Given the description of an element on the screen output the (x, y) to click on. 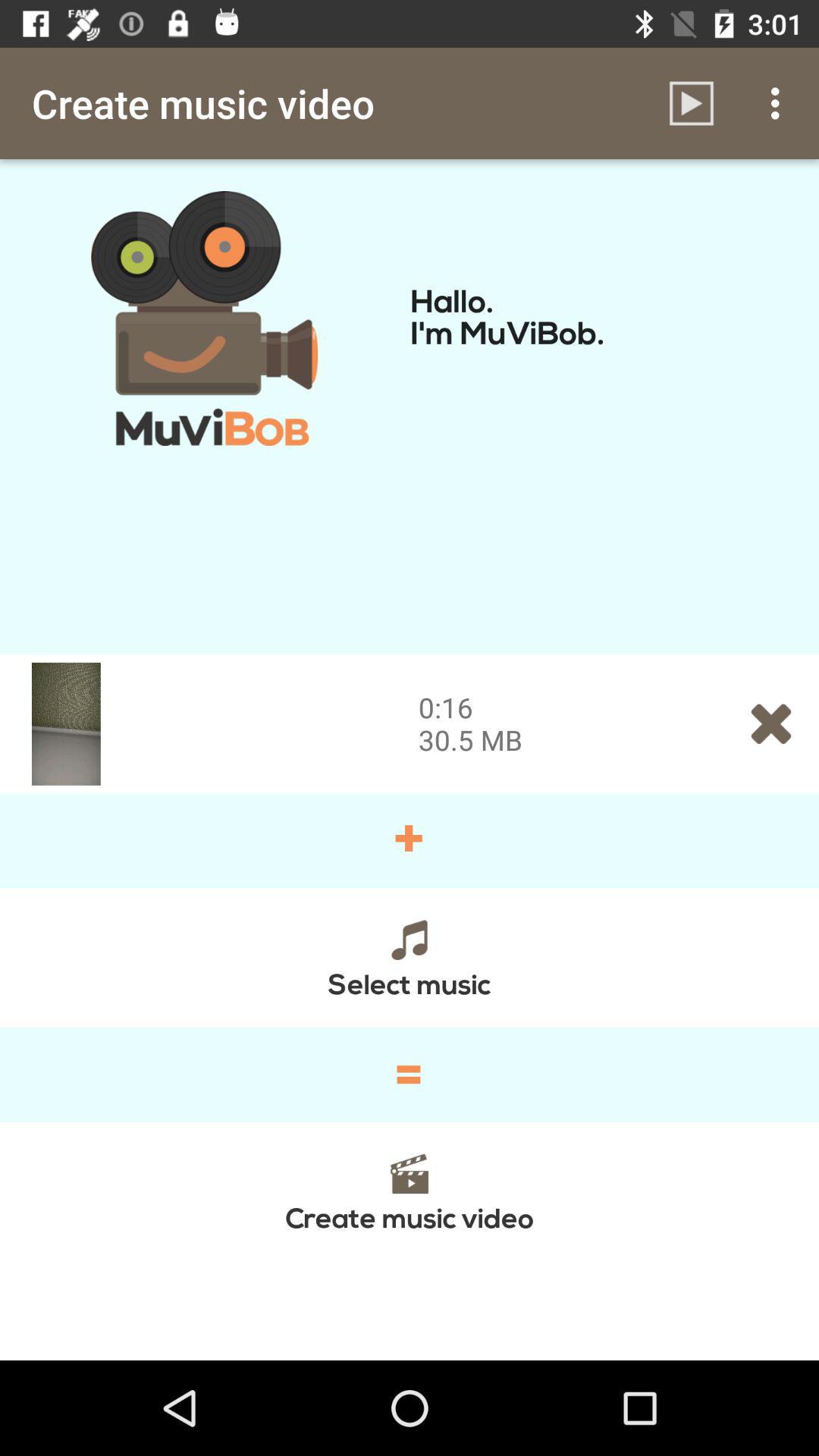
turn off the icon above hallo i m item (779, 103)
